Given the description of an element on the screen output the (x, y) to click on. 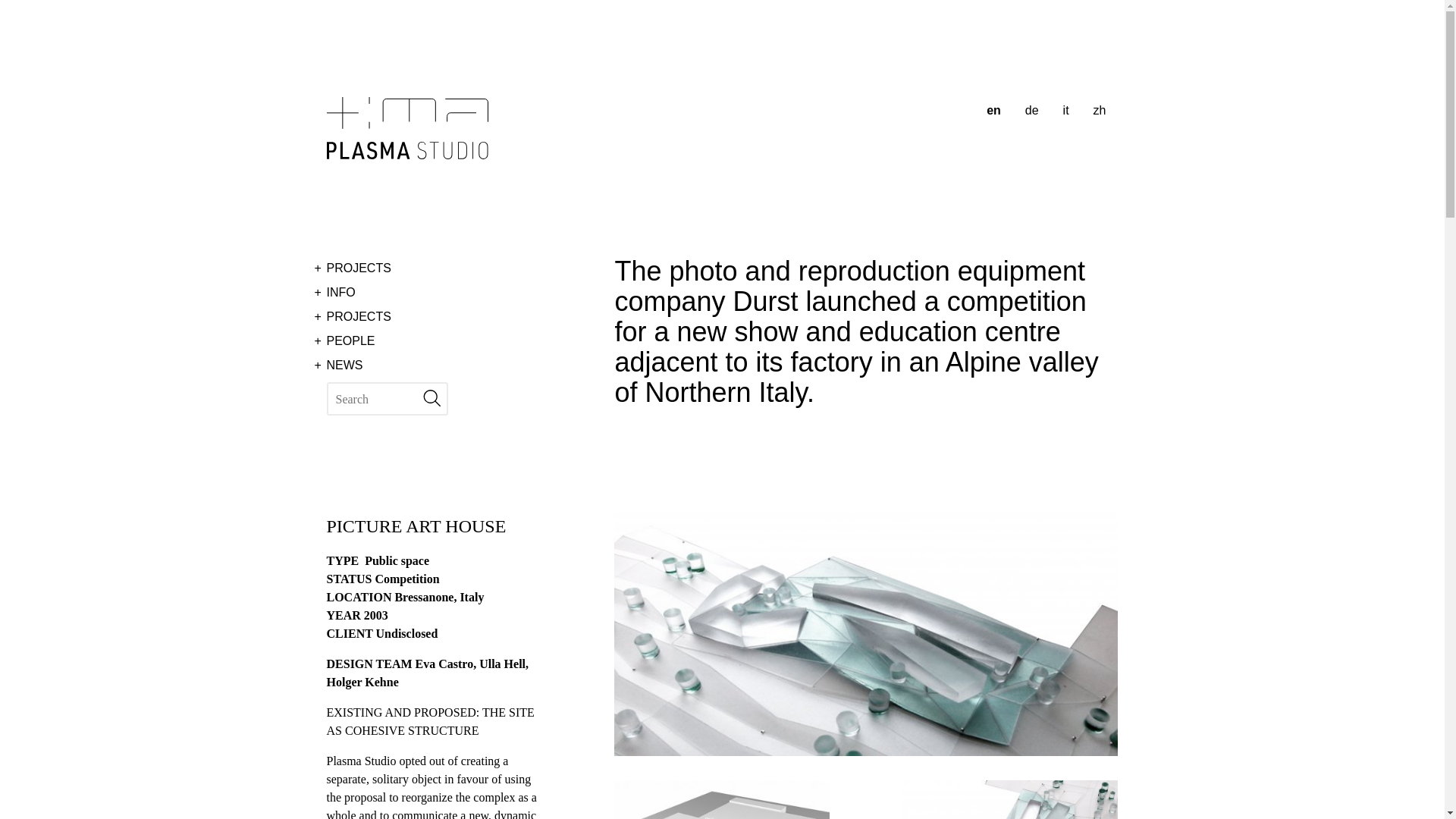
de (1032, 110)
NEWS (427, 364)
it (1066, 110)
INFO (427, 292)
zh (1099, 110)
PROJECTS (427, 316)
PEOPLE (427, 340)
en (993, 110)
PROJECTS (427, 268)
